Given the description of an element on the screen output the (x, y) to click on. 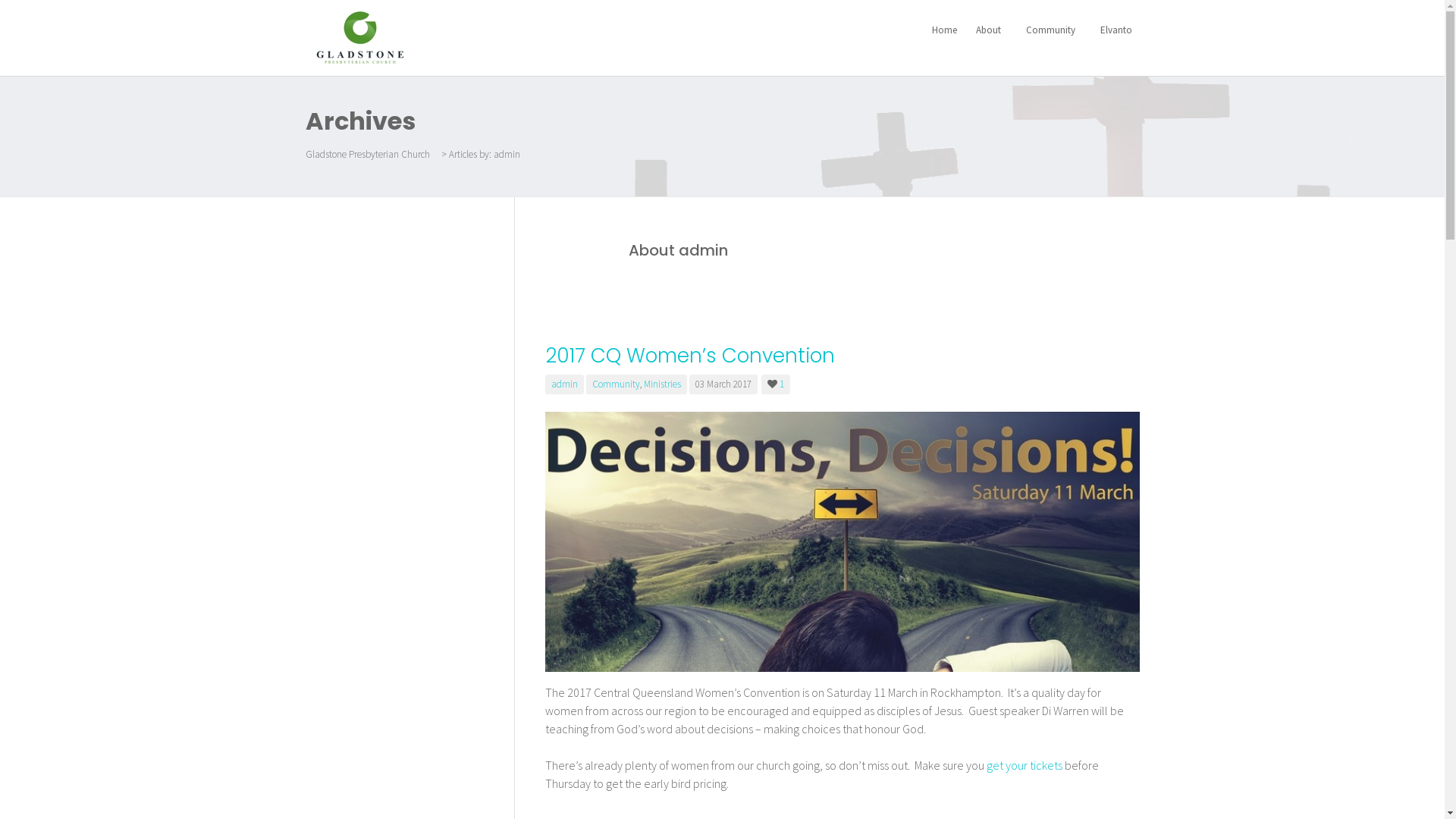
Gladstone Presbyterian Church Element type: hover (358, 35)
Community Element type: text (1051, 30)
Community Element type: text (615, 383)
1 Element type: text (775, 383)
Ministries Element type: text (661, 383)
About Element type: text (989, 30)
Gladstone Presbyterian Church Element type: text (366, 153)
Home Element type: text (942, 30)
admin Element type: text (563, 383)
get your tickets Element type: text (1023, 764)
Elvanto Element type: text (1113, 30)
